Given the description of an element on the screen output the (x, y) to click on. 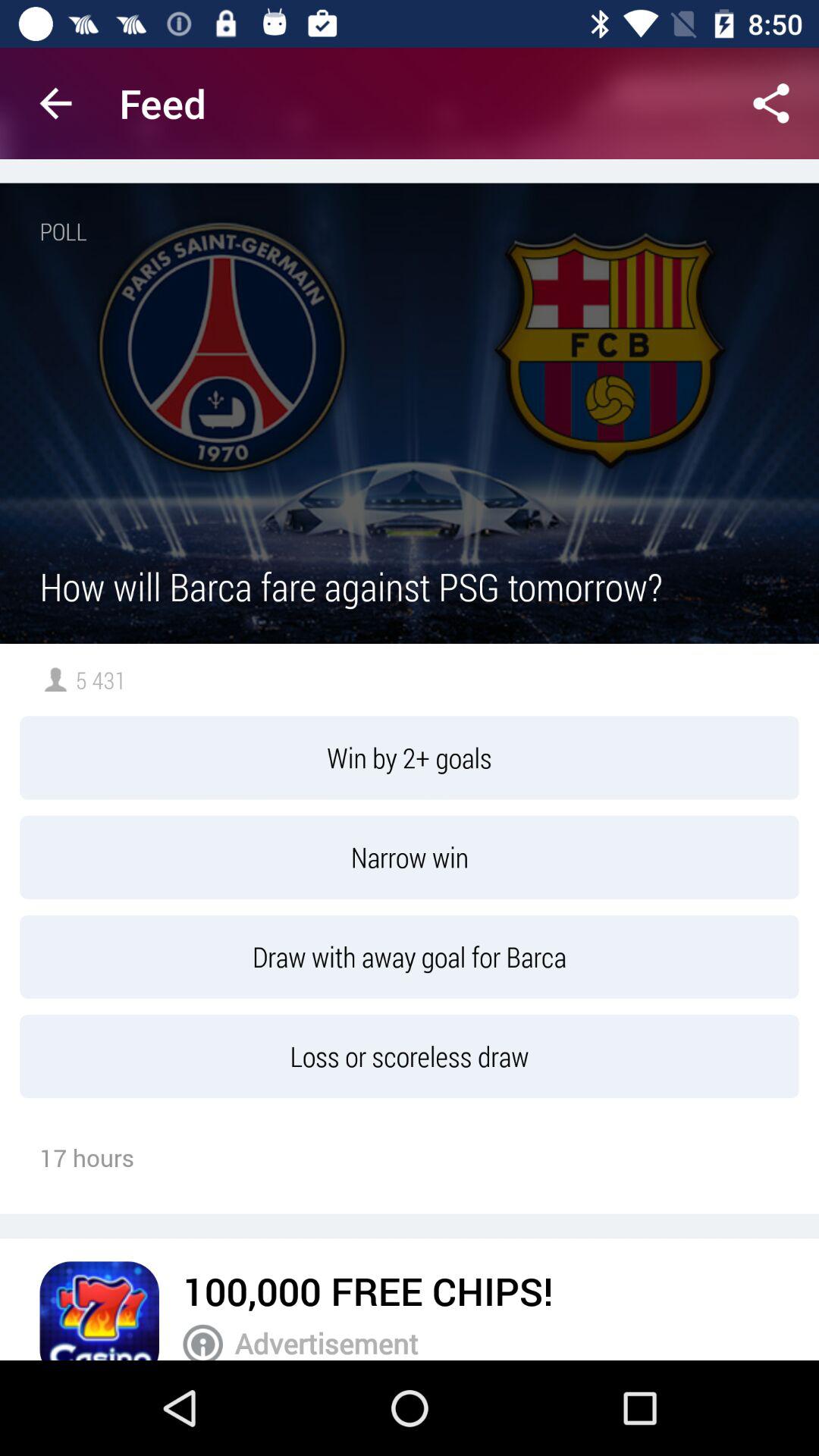
select item below the narrow win item (409, 956)
